Given the description of an element on the screen output the (x, y) to click on. 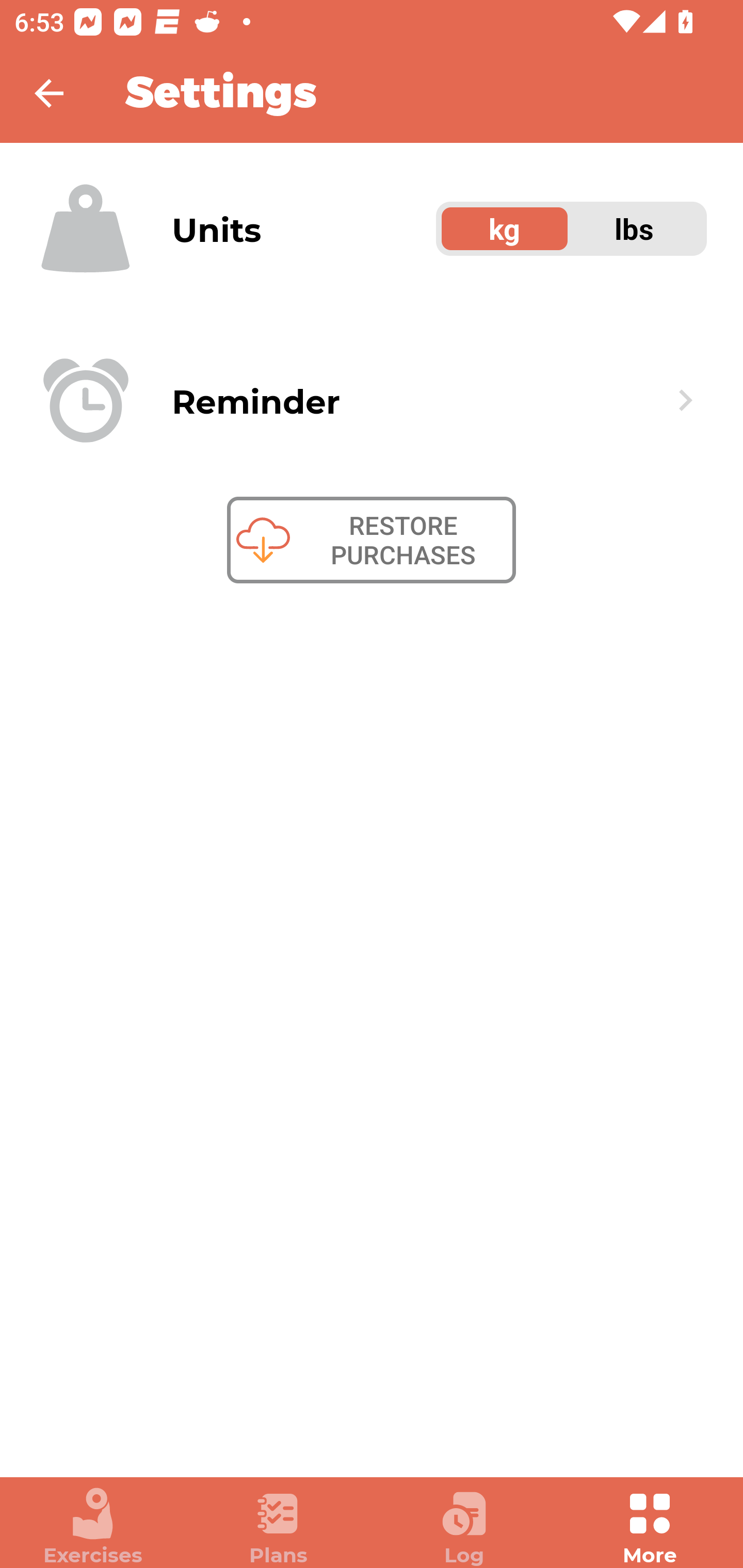
kg (504, 228)
lbs (634, 228)
Reminder (371, 400)
RESTORE PURCHASES (371, 540)
Exercises (92, 1527)
Plans (278, 1527)
Log (464, 1527)
More (650, 1527)
